Given the description of an element on the screen output the (x, y) to click on. 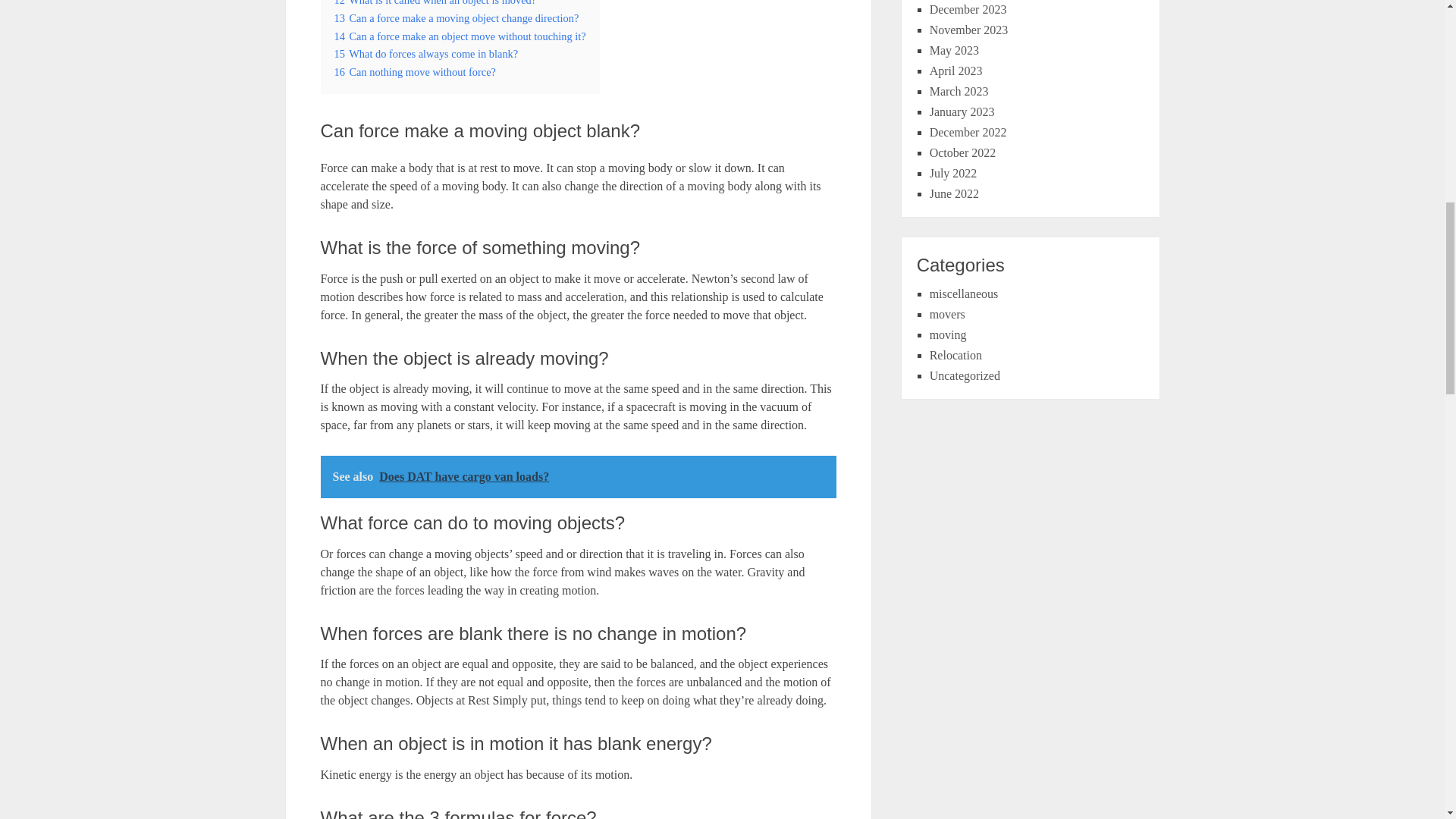
15 What do forces always come in blank? (425, 53)
14 Can a force make an object move without touching it? (459, 36)
16 Can nothing move without force? (414, 71)
13 Can a force make a moving object change direction? (455, 18)
See also  Does DAT have cargo van loads? (577, 476)
12 What is it called when an object is moved? (434, 2)
